Given the description of an element on the screen output the (x, y) to click on. 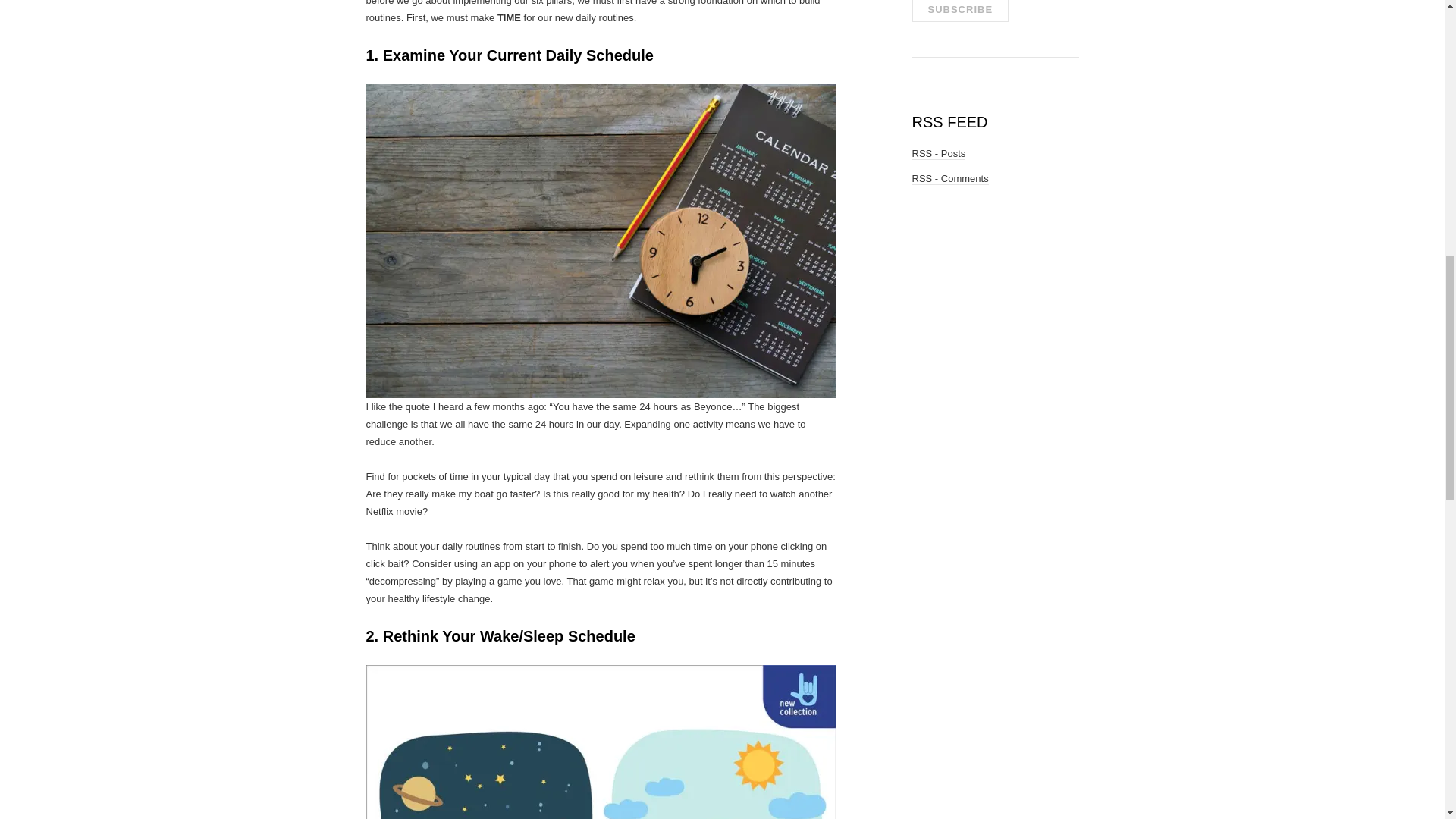
Subscribe to Posts (938, 153)
RSS - Comments (949, 178)
RSS - Posts (938, 153)
Subscribe to Comments (949, 178)
SUBSCRIBE (960, 11)
